Given the description of an element on the screen output the (x, y) to click on. 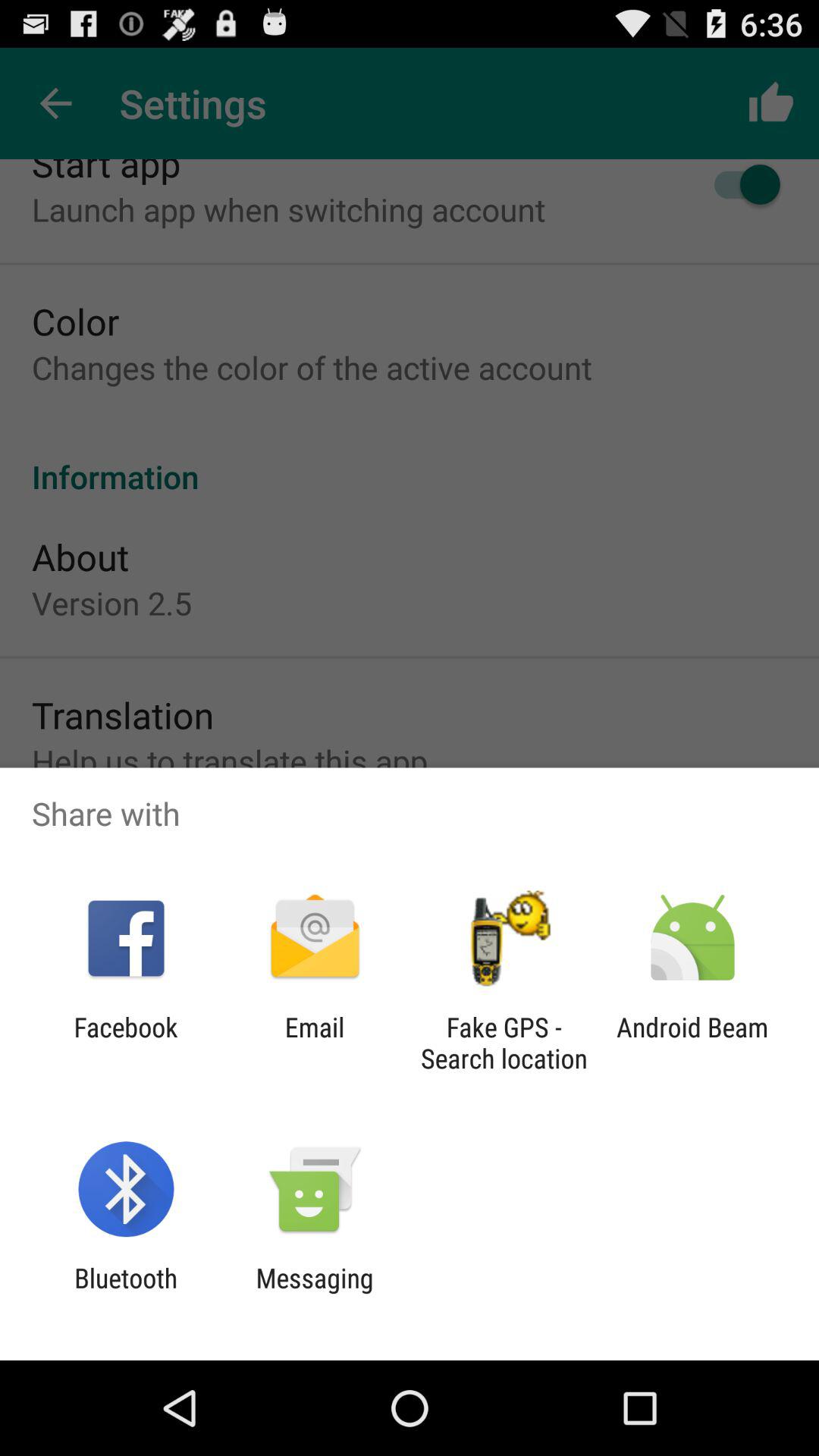
click the item next to android beam item (503, 1042)
